Given the description of an element on the screen output the (x, y) to click on. 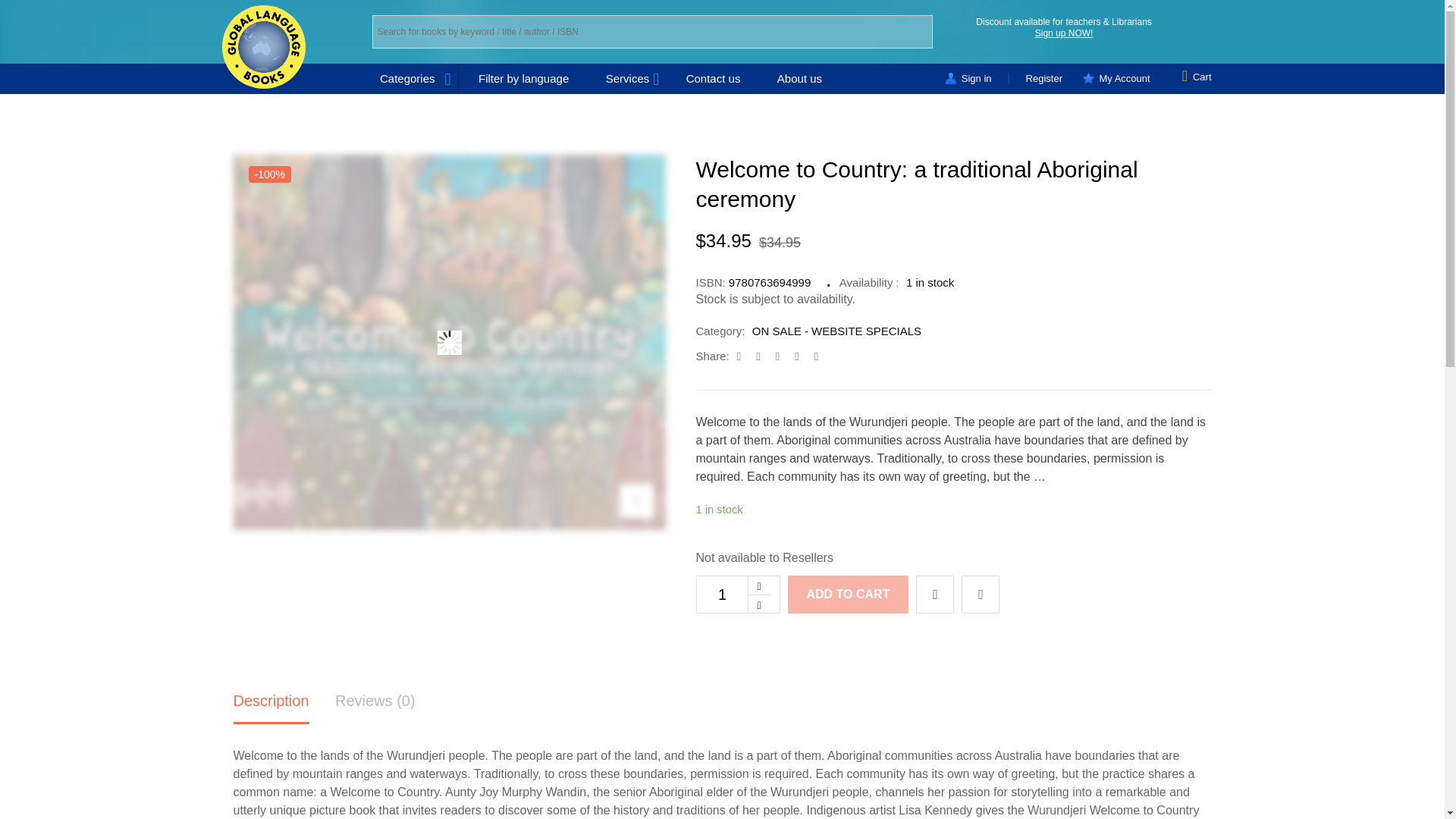
ADD TO CART (847, 594)
Qty (721, 594)
About us (799, 78)
QuickView (979, 594)
Cart (1196, 75)
Services (627, 78)
Categories (419, 78)
Sign up NOW! (1064, 32)
1 (721, 594)
Add to Wishlist (934, 594)
Register (1043, 78)
ON SALE - WEBSITE SPECIALS (836, 330)
Filter by language (523, 78)
Sign in (976, 78)
